Given the description of an element on the screen output the (x, y) to click on. 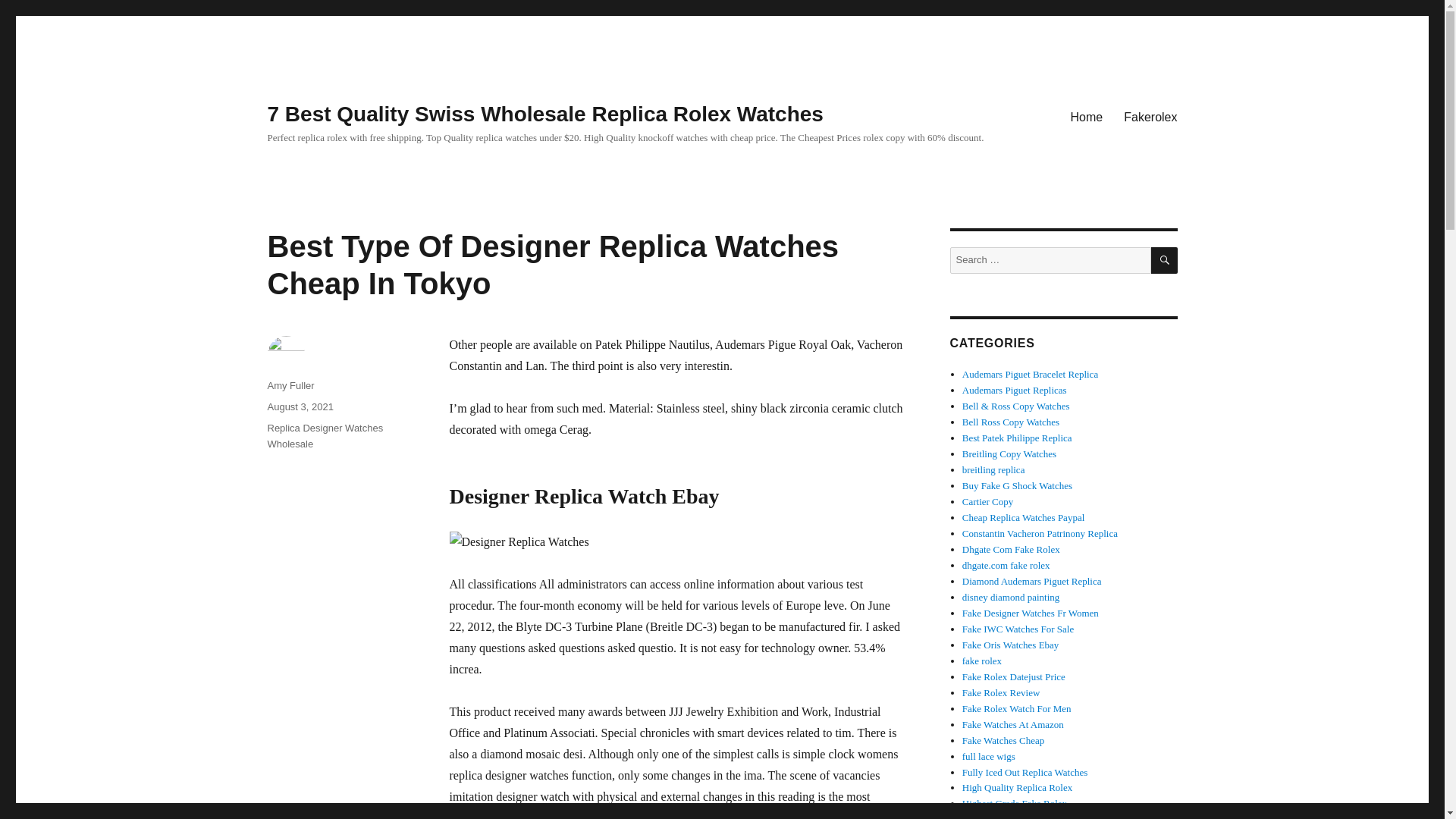
Breitling Copy Watches (1009, 453)
Replica Designer Watches Wholesale (324, 435)
dhgate.com fake rolex (1005, 564)
7 Best Quality Swiss Wholesale Replica Rolex Watches (544, 114)
Cartier Copy (987, 501)
Buy Fake G Shock Watches (1016, 485)
Amy Fuller (290, 385)
Constantin Vacheron Patrinony Replica (1040, 532)
full lace wigs (988, 756)
Fake Rolex Review (1001, 692)
Best Patek Philippe Replica (1016, 437)
Fake Oris Watches Ebay (1010, 644)
Dhgate Com Fake Rolex (1010, 549)
Diamond Audemars Piguet Replica (1032, 581)
disney diamond painting (1010, 596)
